Given the description of an element on the screen output the (x, y) to click on. 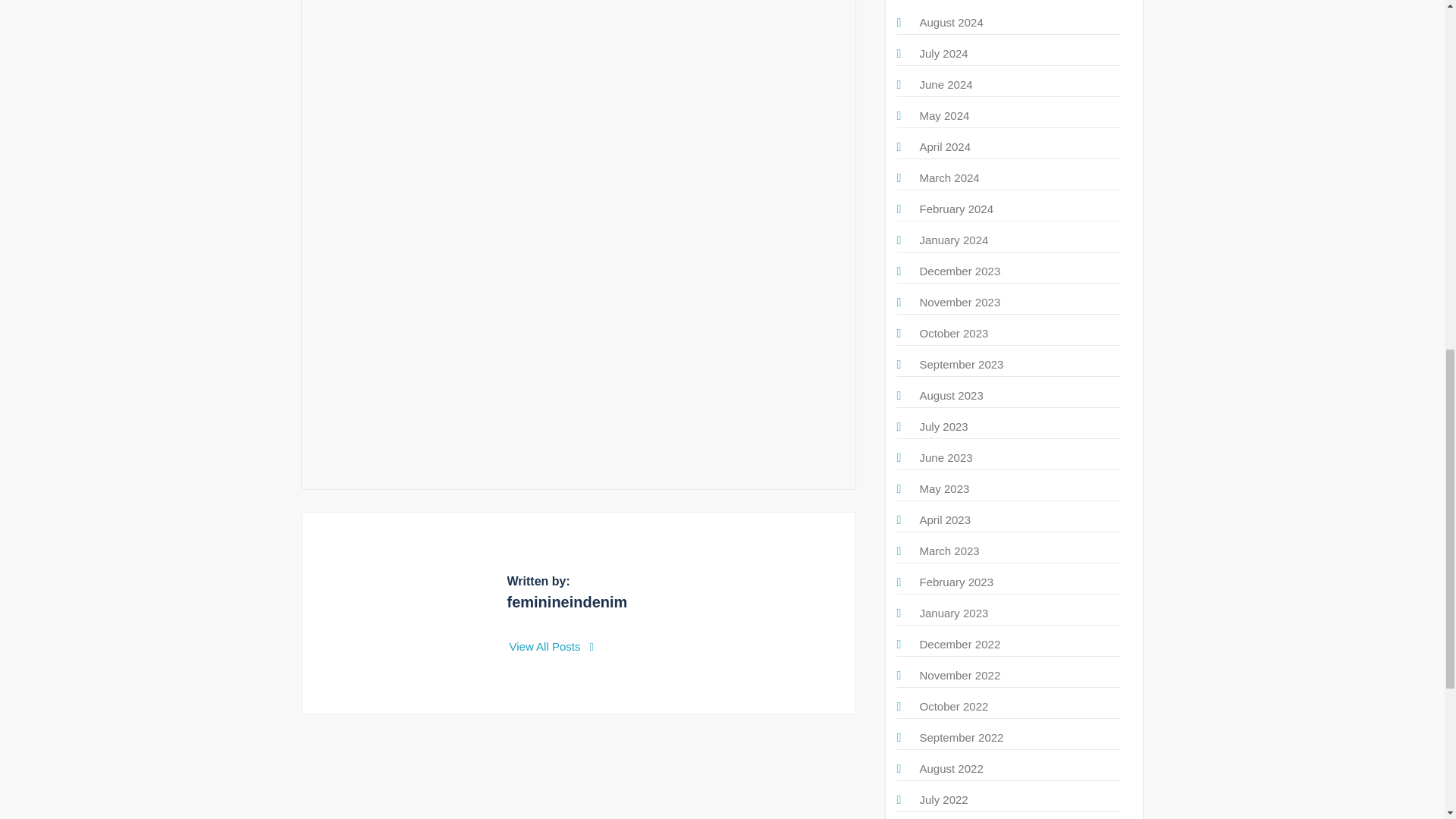
June 2024 (945, 83)
November 2023 (959, 301)
May 2023 (943, 488)
View All Posts (551, 645)
April 2024 (944, 146)
August 2022 (950, 768)
October 2023 (953, 332)
August 2024 (950, 21)
August 2023 (950, 395)
October 2022 (953, 706)
